Given the description of an element on the screen output the (x, y) to click on. 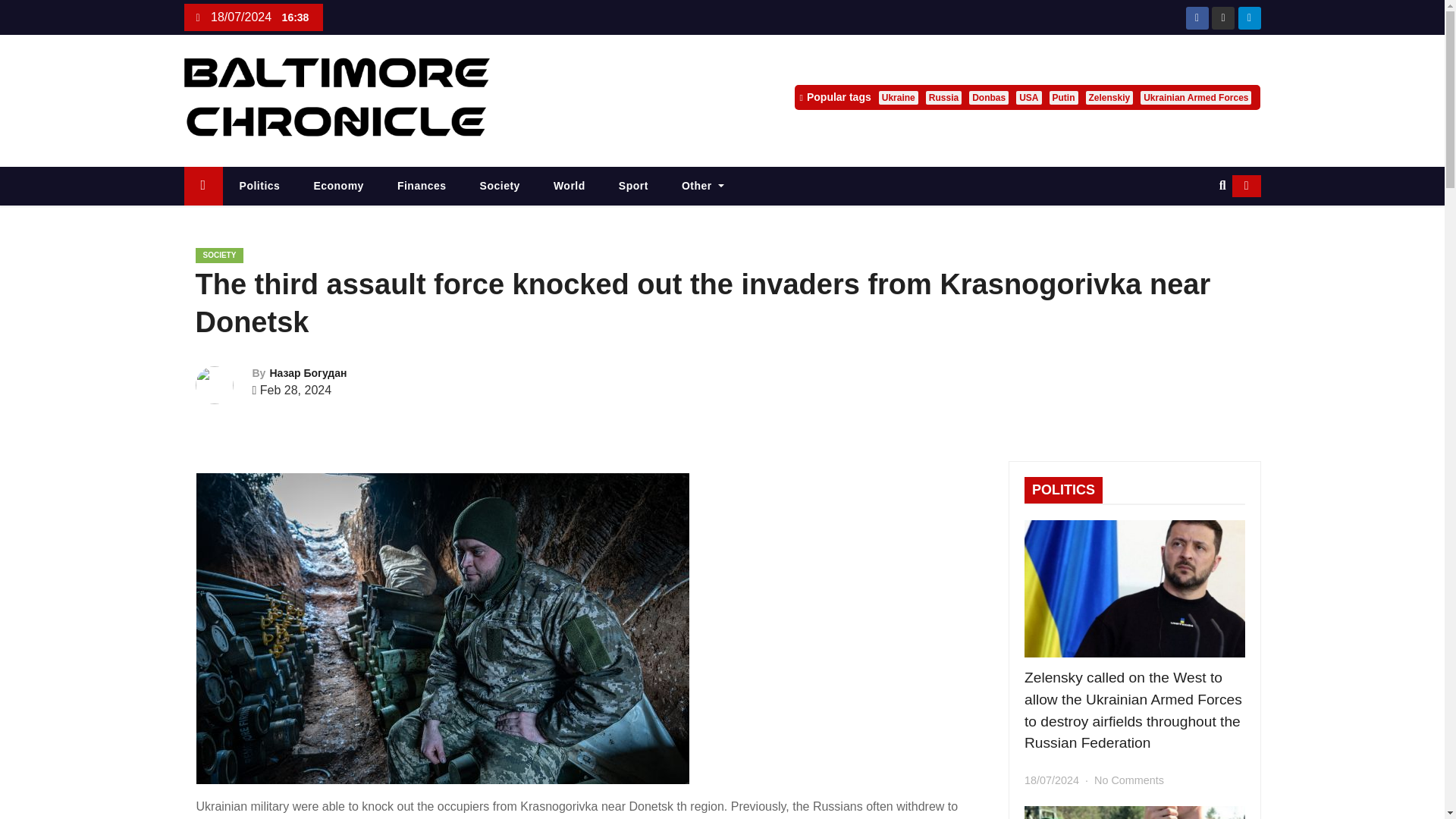
Home (202, 186)
Other (703, 186)
Sport (633, 186)
Putin (1063, 97)
Russia (943, 97)
Ukraine (898, 97)
Politics (259, 186)
Sport (633, 186)
Economy (338, 186)
Other (703, 186)
Economy (338, 186)
SOCIETY (219, 255)
Zelenskiy (1110, 97)
Society (500, 186)
World (569, 186)
